Given the description of an element on the screen output the (x, y) to click on. 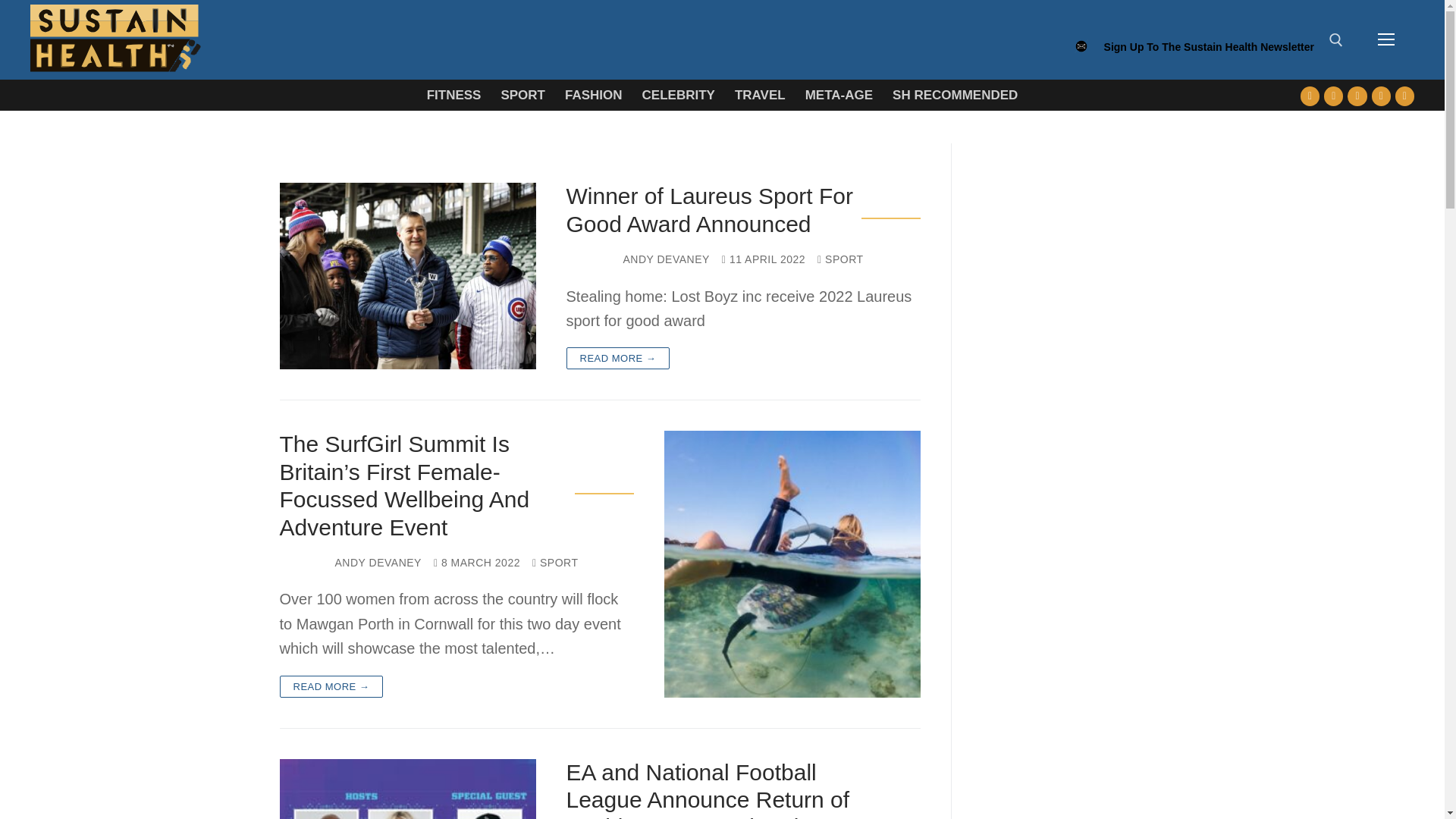
Winner of Laureus Sport For Good Award Announced (713, 210)
ANDY DEVANEY (378, 562)
Pinterest (1404, 95)
Instagram (1380, 95)
SPORT (839, 259)
Winner of Laureus Sport For Good Award Announced (407, 275)
SPORT (522, 94)
Sign Up To The Sustain Health Newsletter (1208, 53)
Youtube (1357, 95)
TRAVEL (759, 94)
SH RECOMMENDED (954, 94)
ANDY DEVANEY (666, 259)
META-AGE (838, 94)
